Given the description of an element on the screen output the (x, y) to click on. 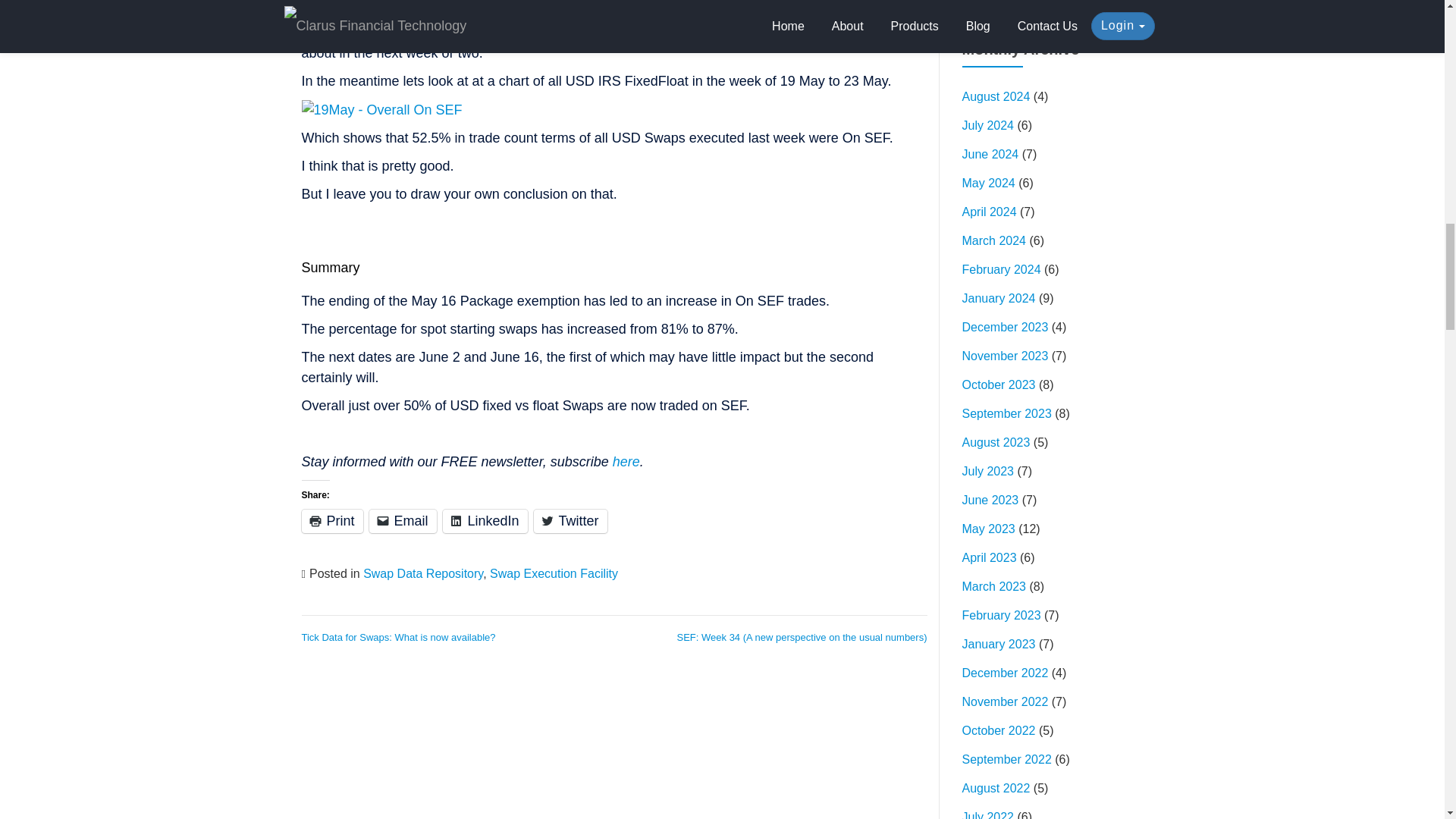
SDRView Professional, (726, 32)
Click to share on LinkedIn (484, 521)
SDRView Pro (726, 32)
Click to email a link to a friend (402, 521)
here (626, 461)
Click to print (331, 521)
